Given the description of an element on the screen output the (x, y) to click on. 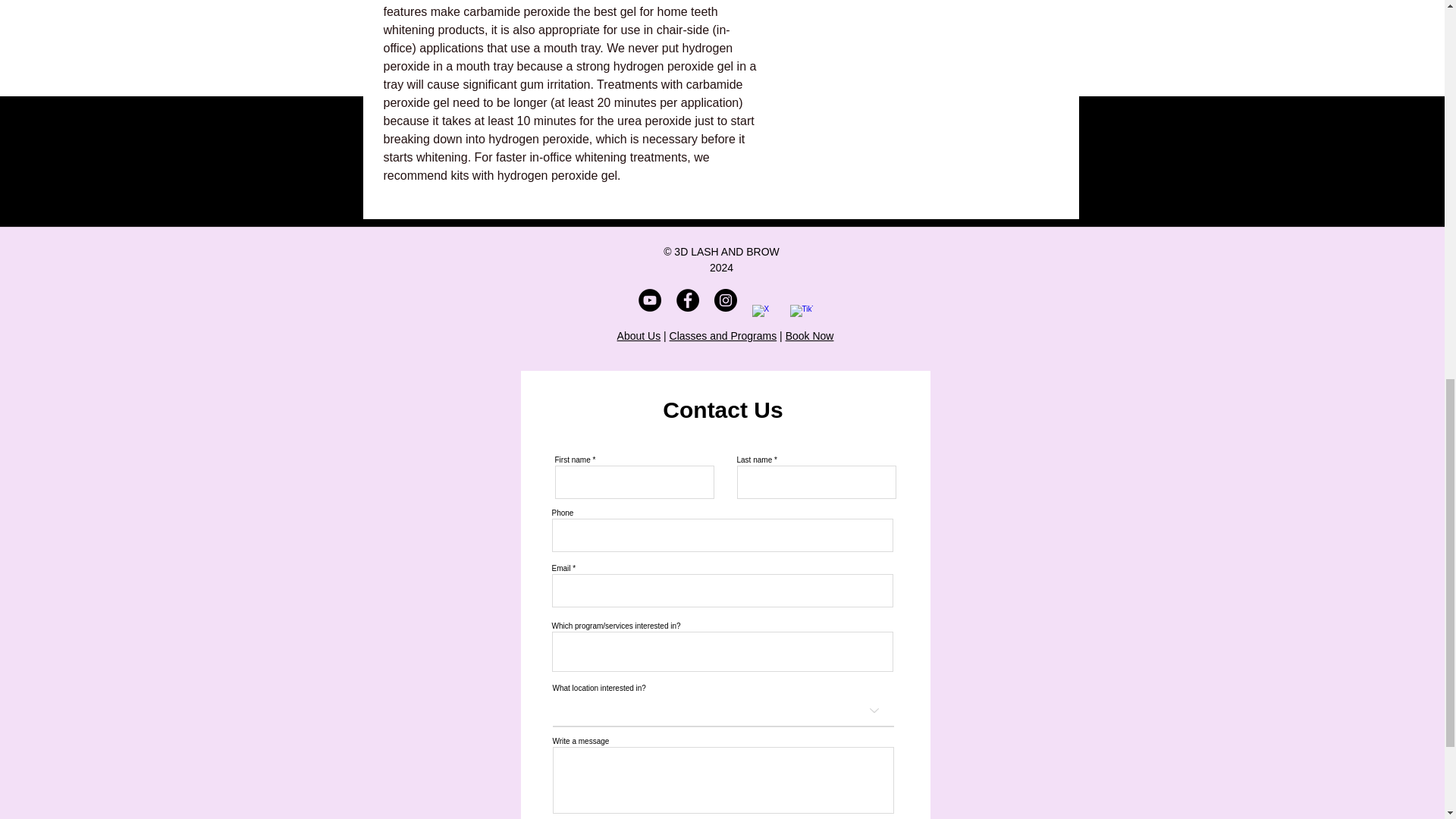
About Us (639, 336)
Book Now (810, 336)
Classes and Programs (723, 336)
